Given the description of an element on the screen output the (x, y) to click on. 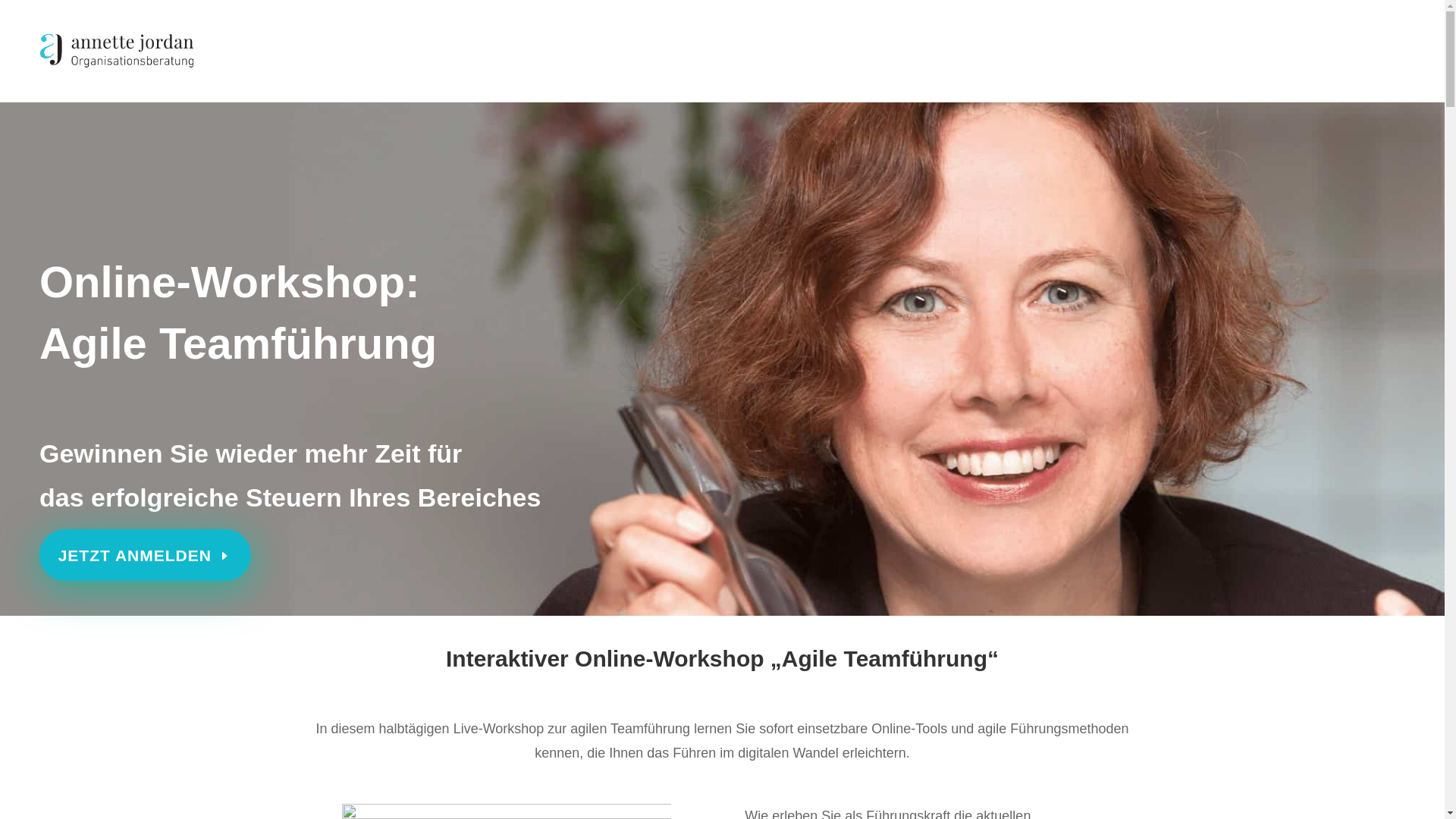
JETZT ANMELDEN Element type: text (145, 554)
